Given the description of an element on the screen output the (x, y) to click on. 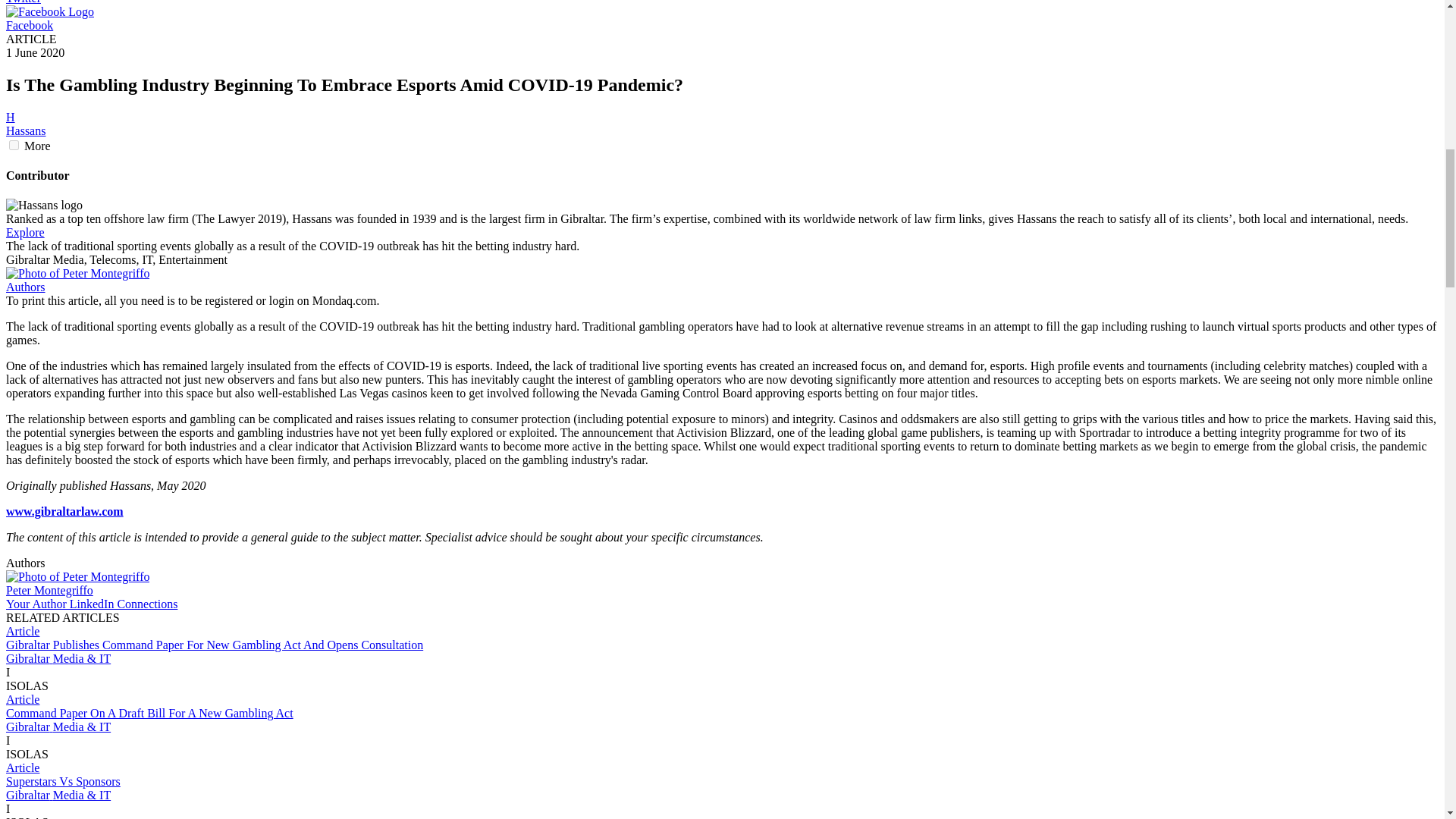
on (13, 144)
